Given the description of an element on the screen output the (x, y) to click on. 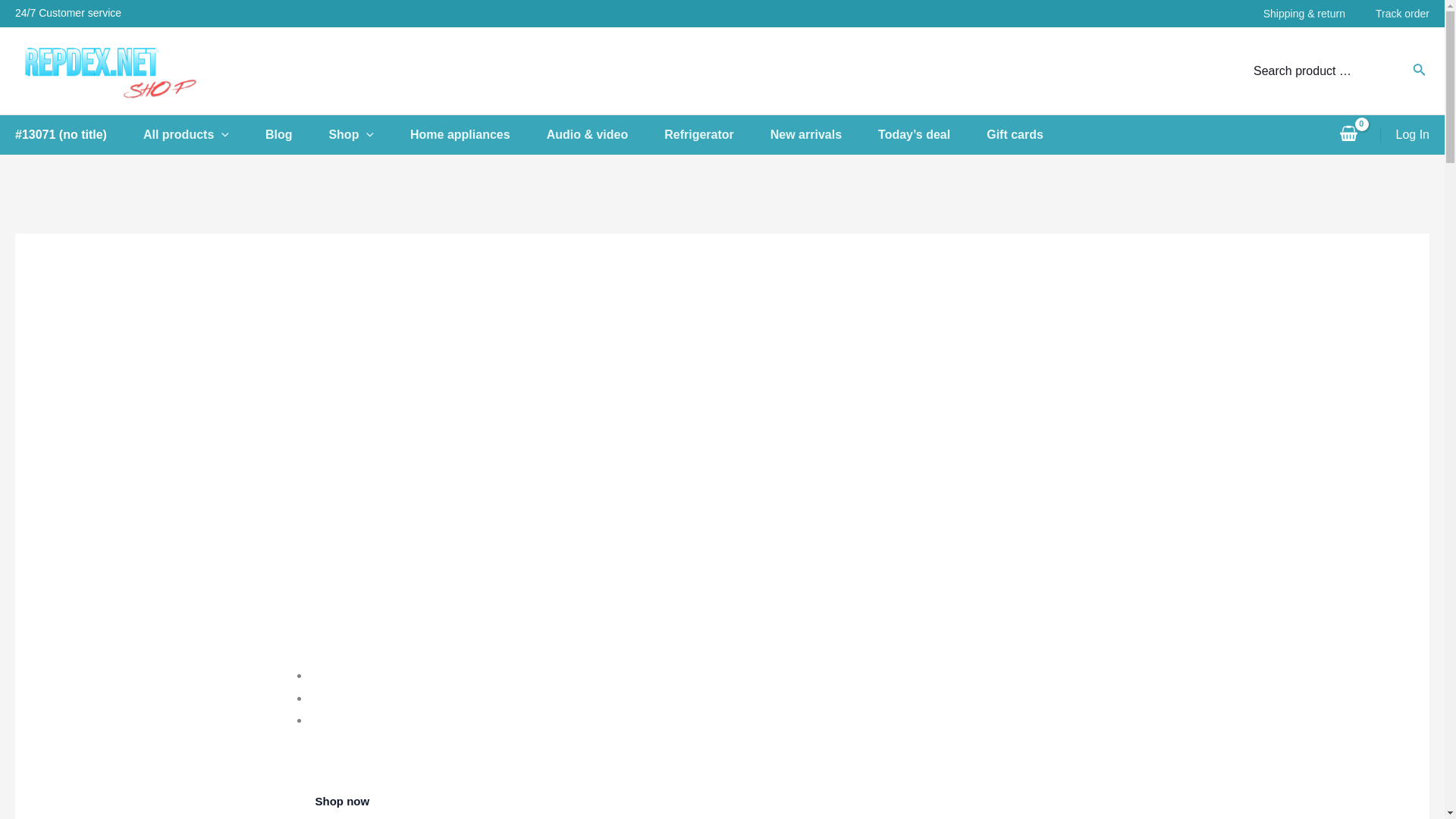
Blog (296, 134)
New arrivals (823, 134)
Home appliances (478, 134)
Log In (1412, 134)
All products (203, 134)
Track order (1387, 13)
Gift cards (1033, 134)
Refrigerator (716, 134)
Shop (369, 134)
